Given the description of an element on the screen output the (x, y) to click on. 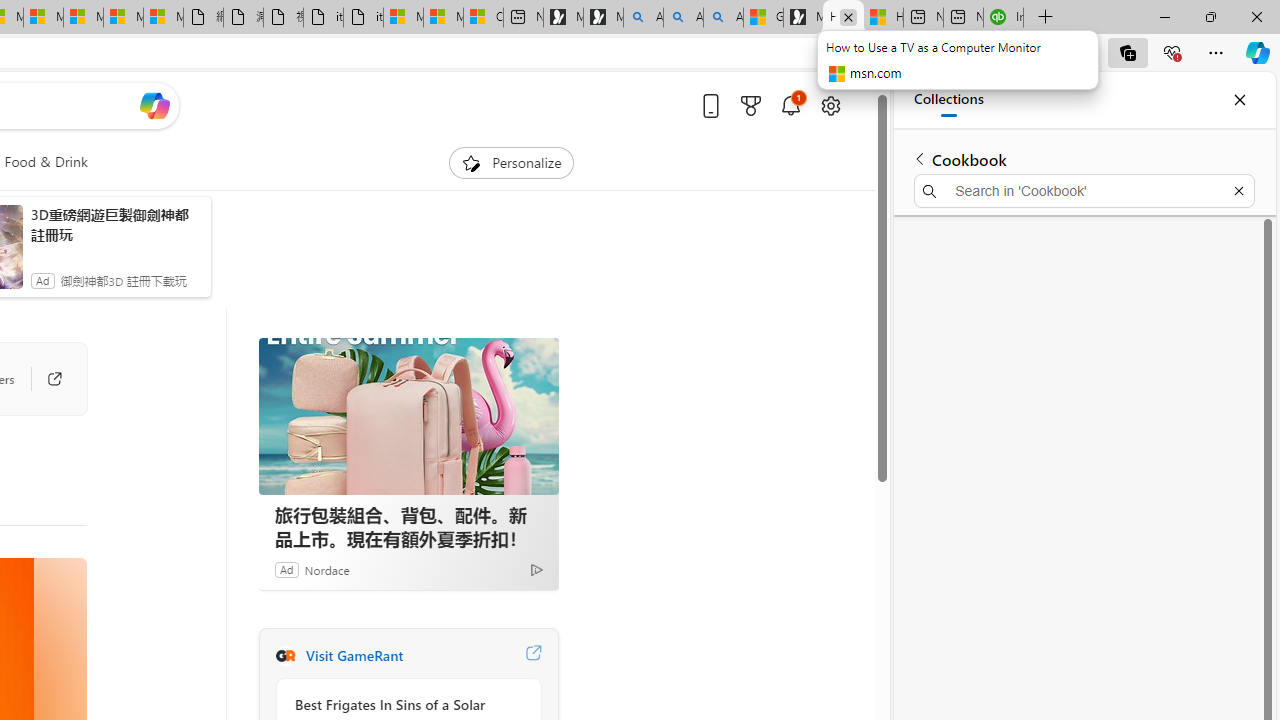
Alabama high school quarterback dies - Search (643, 17)
Personalize (511, 162)
Microsoft rewards (749, 105)
Consumer Health Data Privacy Policy (483, 17)
Food & Drink (45, 162)
